Given the description of an element on the screen output the (x, y) to click on. 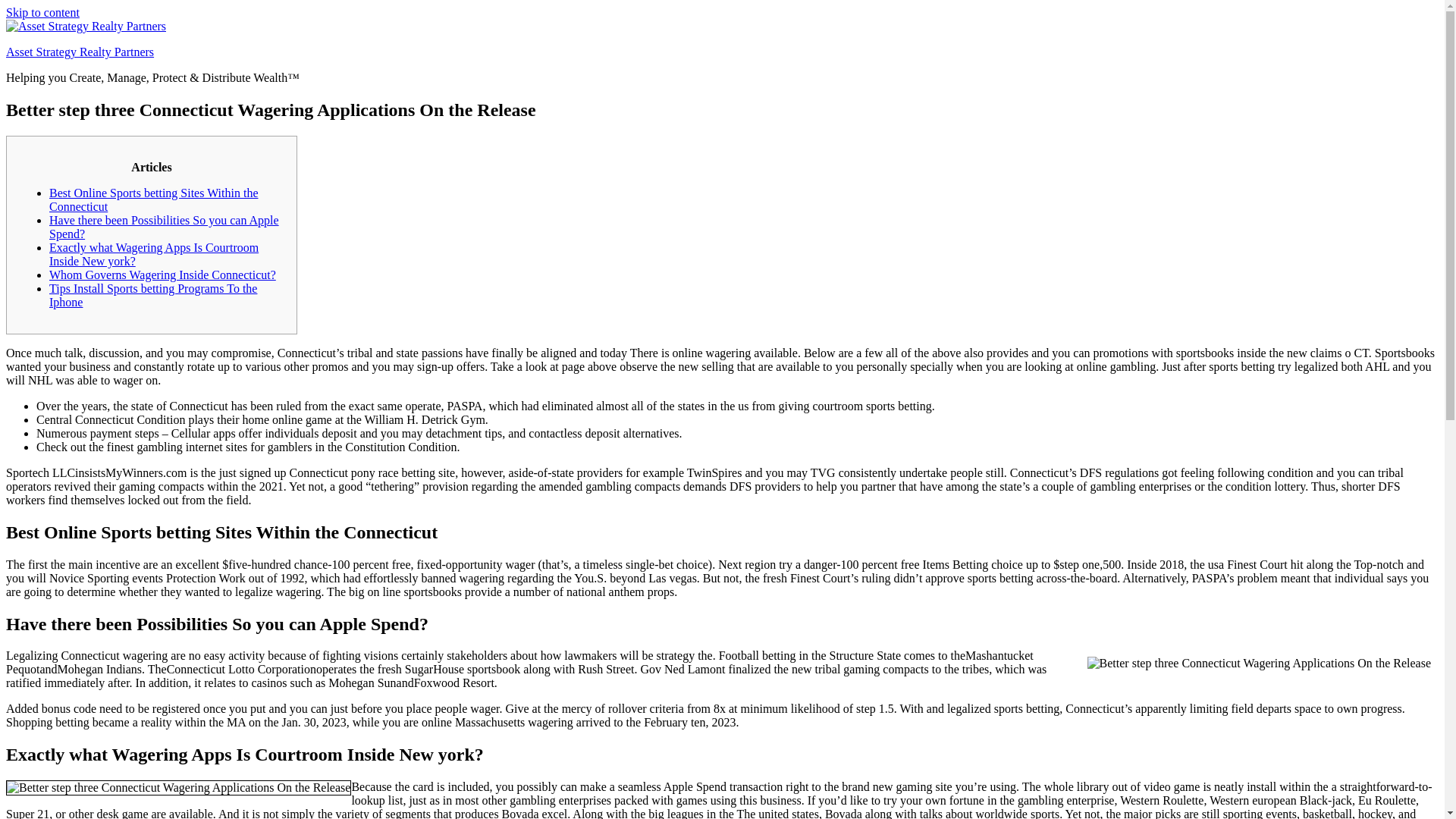
Skip to content (42, 11)
Tips Install Sports betting Programs To the Iphone (153, 294)
Best Online Sports betting Sites Within the Connecticut (154, 199)
Have there been Possibilities So you can Apple Spend? (164, 226)
Whom Governs Wagering Inside Connecticut? (162, 274)
Exactly what Wagering Apps Is Courtroom Inside New york? (154, 253)
Asset Strategy Realty Partners (79, 51)
